Given the description of an element on the screen output the (x, y) to click on. 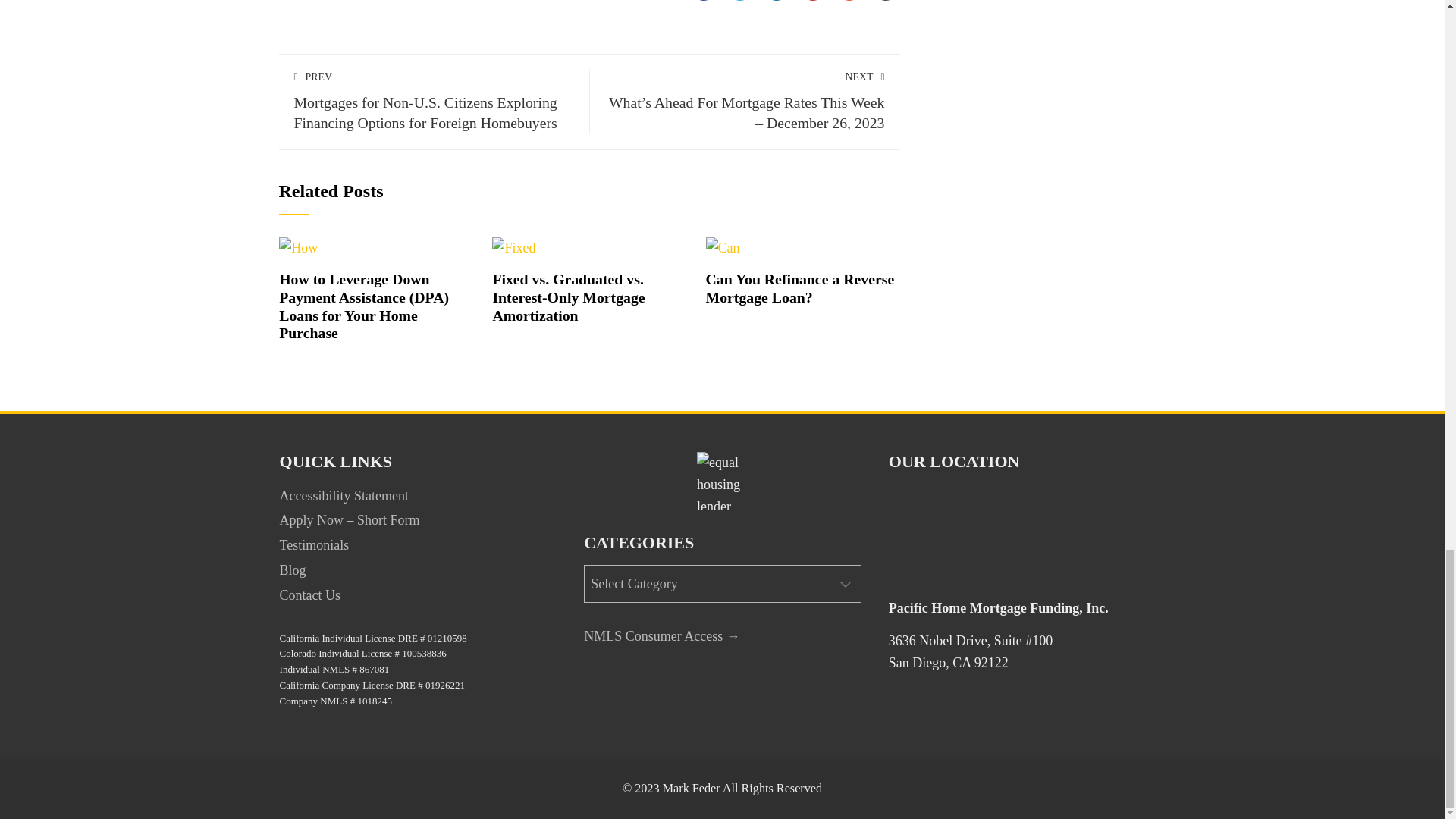
Fixed vs. Graduated vs. Interest-Only Mortgage Amortization (568, 297)
Can You Refinance a Reverse Mortgage Loan? (722, 246)
Fixed vs. Graduated vs. Interest-Only Mortgage Amortization (513, 246)
Can You Refinance a Reverse Mortgage Loan? (800, 288)
